Given the description of an element on the screen output the (x, y) to click on. 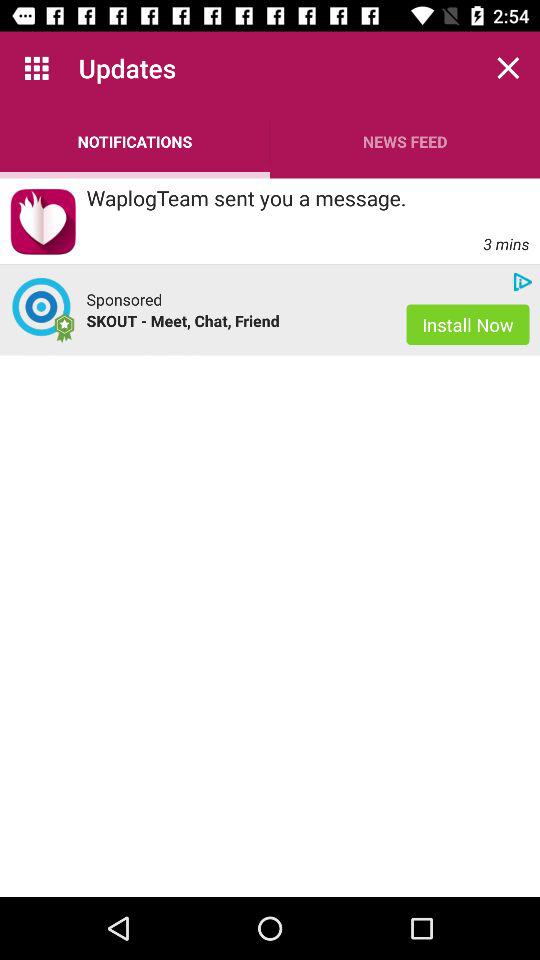
turn on the icon to the right of skout meet chat app (467, 324)
